Given the description of an element on the screen output the (x, y) to click on. 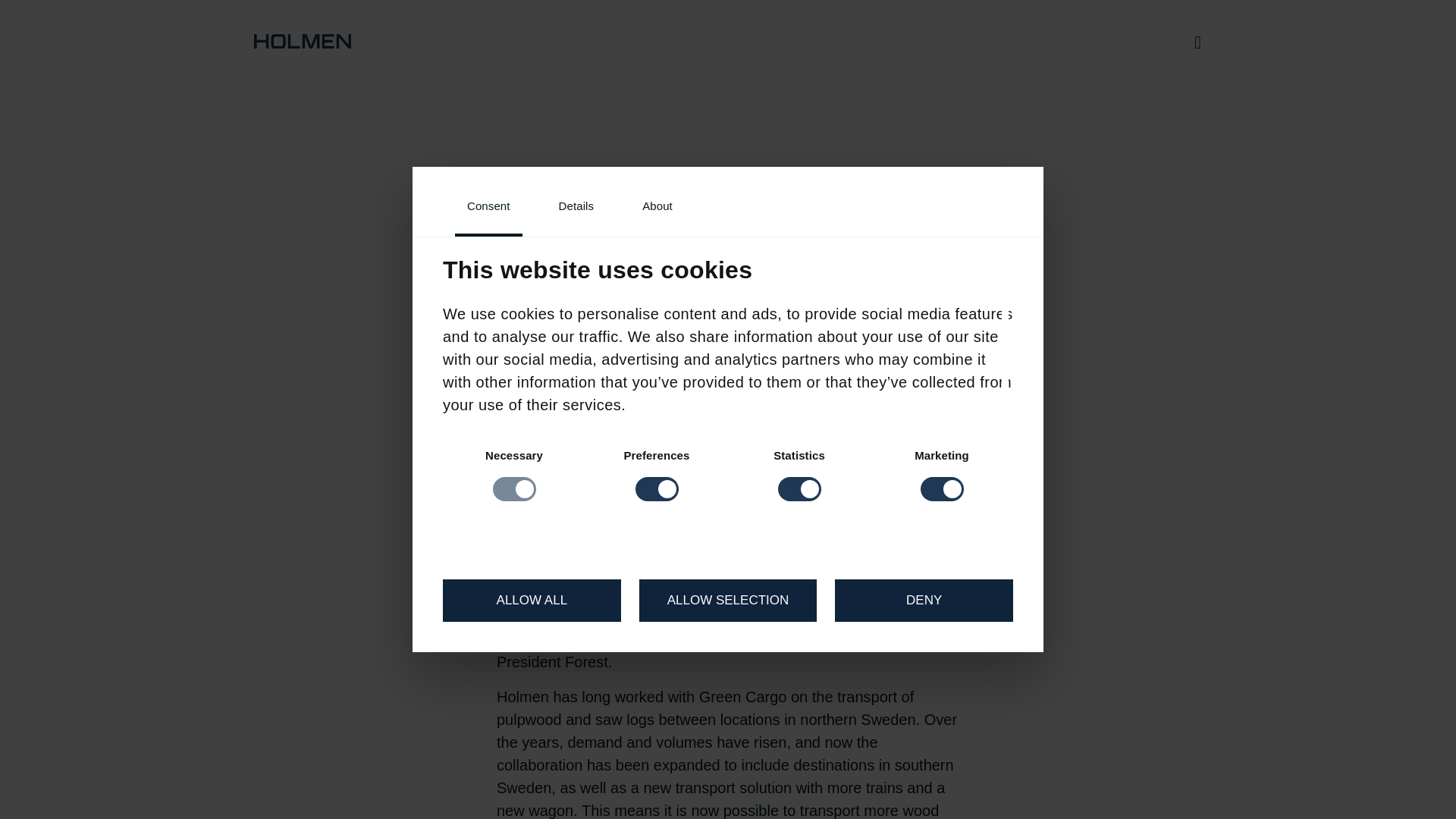
About (657, 207)
Details (577, 207)
Consent (488, 207)
